Given the description of an element on the screen output the (x, y) to click on. 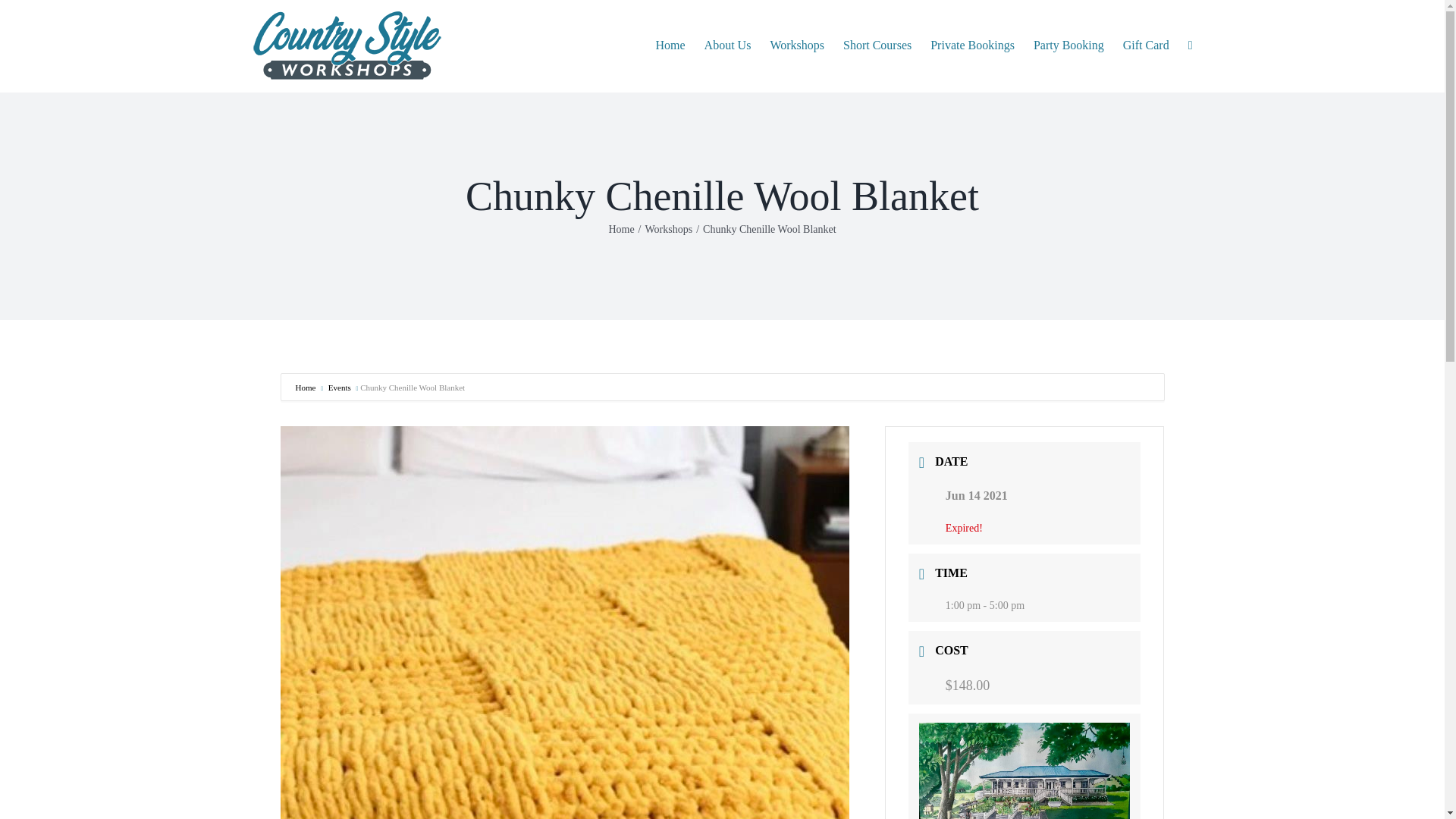
Workshops (669, 229)
Home (620, 229)
Private Bookings (972, 45)
Events (337, 387)
Home (305, 387)
